Given the description of an element on the screen output the (x, y) to click on. 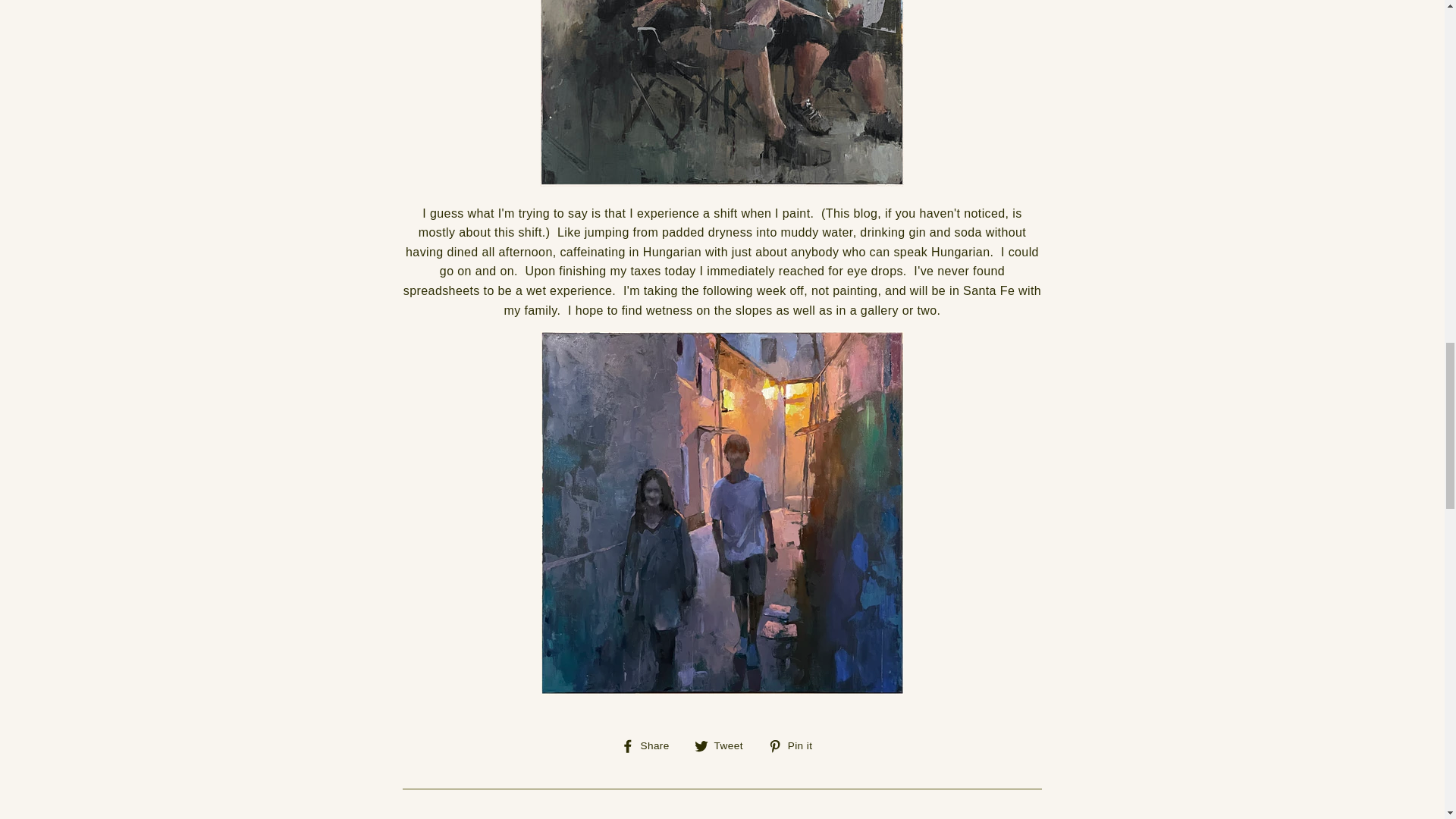
Share on Facebook (651, 745)
Tweet on Twitter (724, 745)
Pin on Pinterest (796, 745)
